Given the description of an element on the screen output the (x, y) to click on. 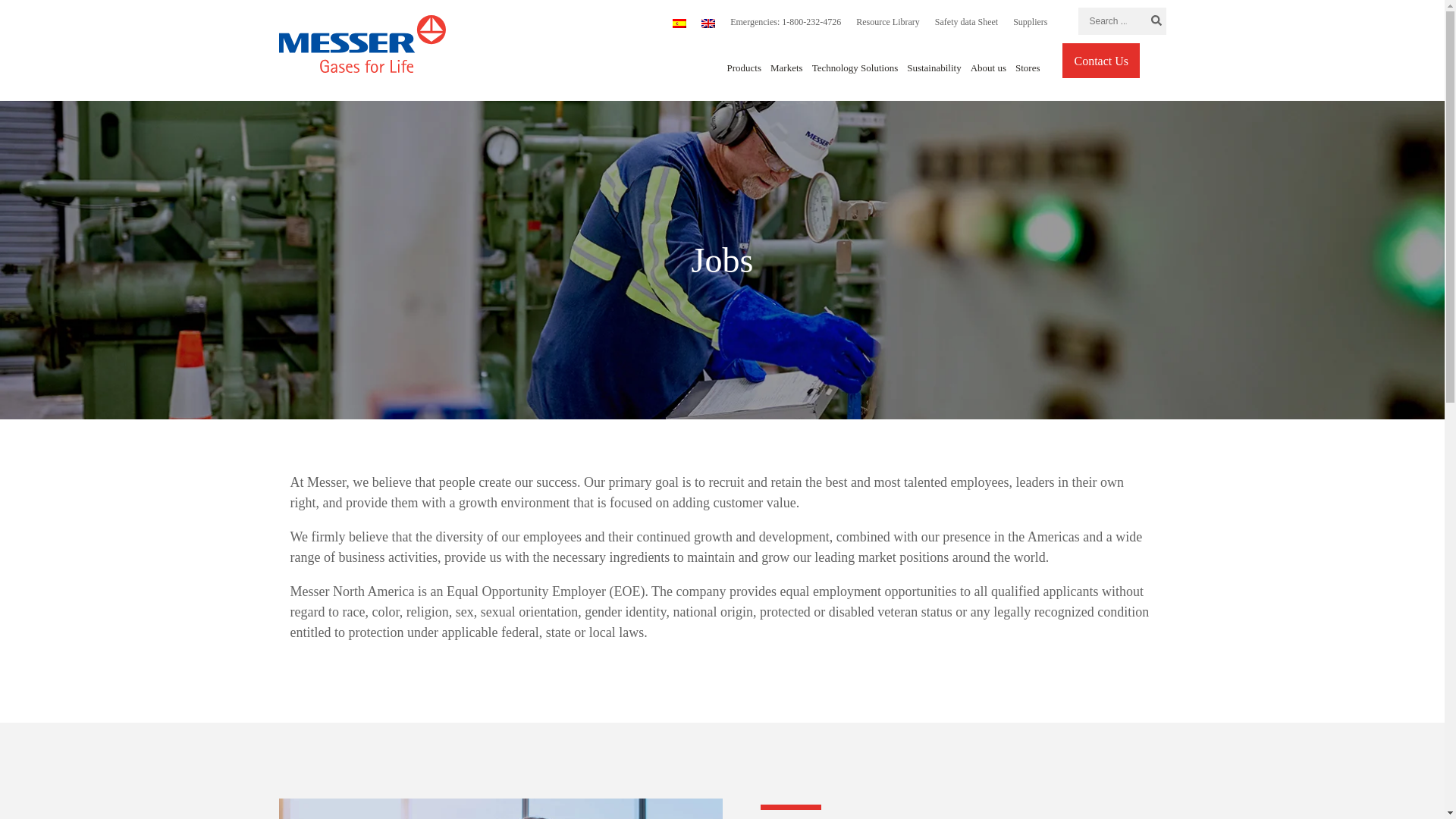
Markets (786, 67)
Resource Library (887, 22)
Safety data Sheet (966, 22)
Products (743, 67)
Suppliers (1030, 22)
About us (988, 67)
Emergencies: 1-800-232-4726 (785, 22)
Markets (786, 67)
Safety data Sheet (966, 22)
Messer gases for life (362, 43)
Resource Library (887, 22)
Sustainability (933, 67)
Stores (1027, 67)
Suppliers (1030, 22)
Products (743, 67)
